Given the description of an element on the screen output the (x, y) to click on. 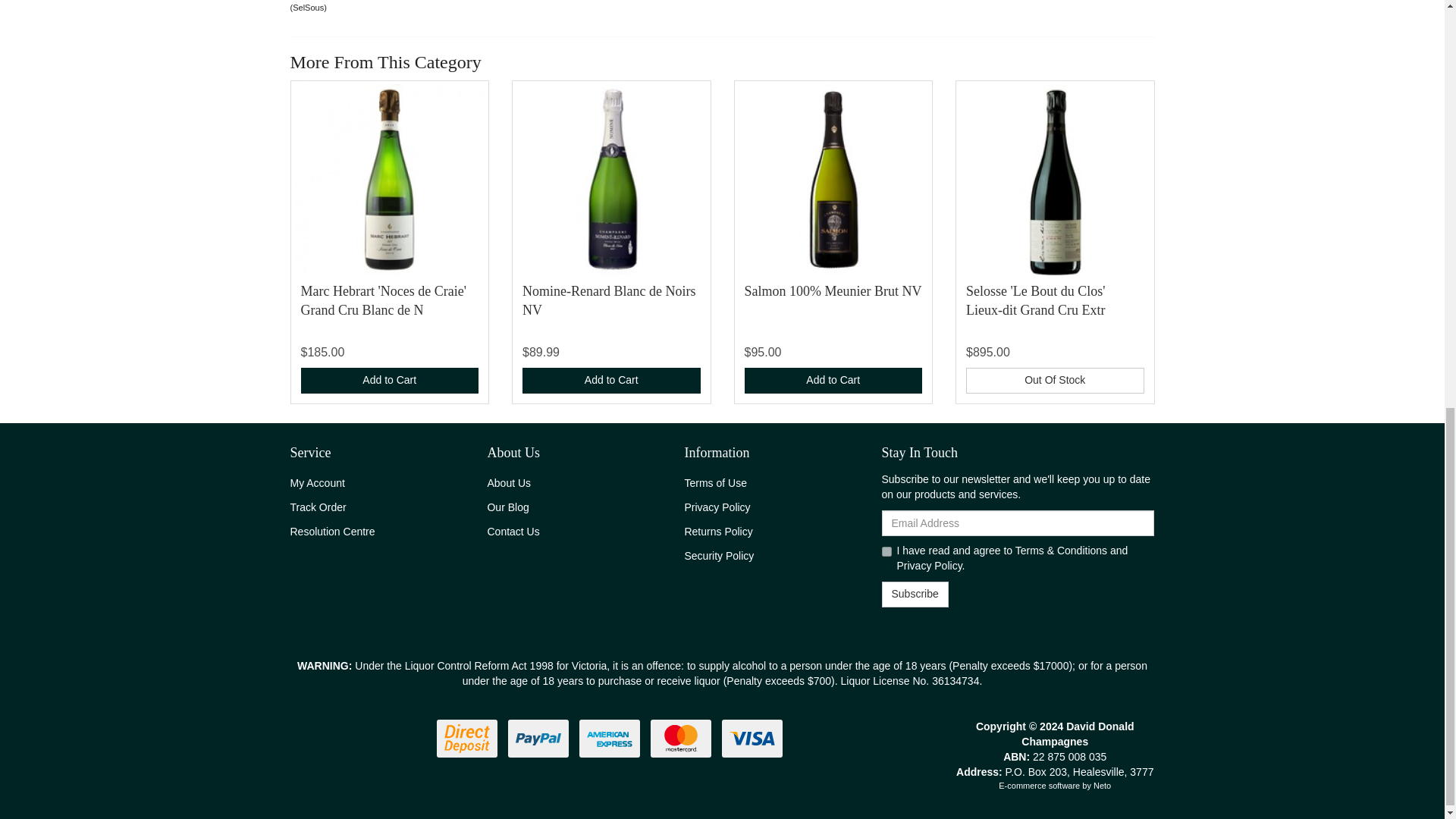
Subscribe (913, 594)
y (885, 551)
Add Nomine-Renard Blanc de Noirs NV to Cart (611, 380)
